Given the description of an element on the screen output the (x, y) to click on. 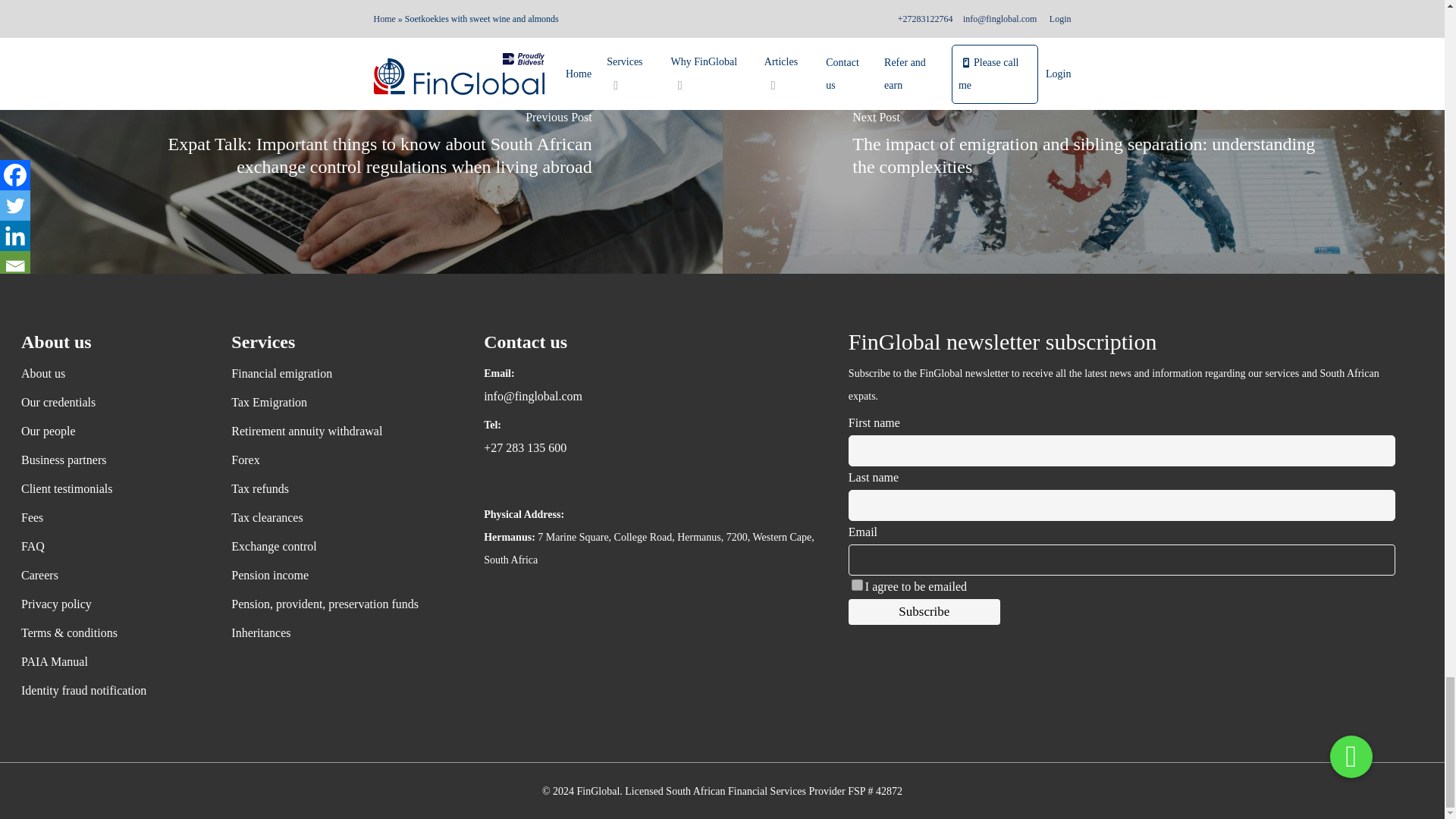
Our People (112, 431)
Business Partners (112, 459)
Client Testimonials (112, 488)
About Us (112, 373)
on (857, 584)
Our Credentials (112, 402)
